Given the description of an element on the screen output the (x, y) to click on. 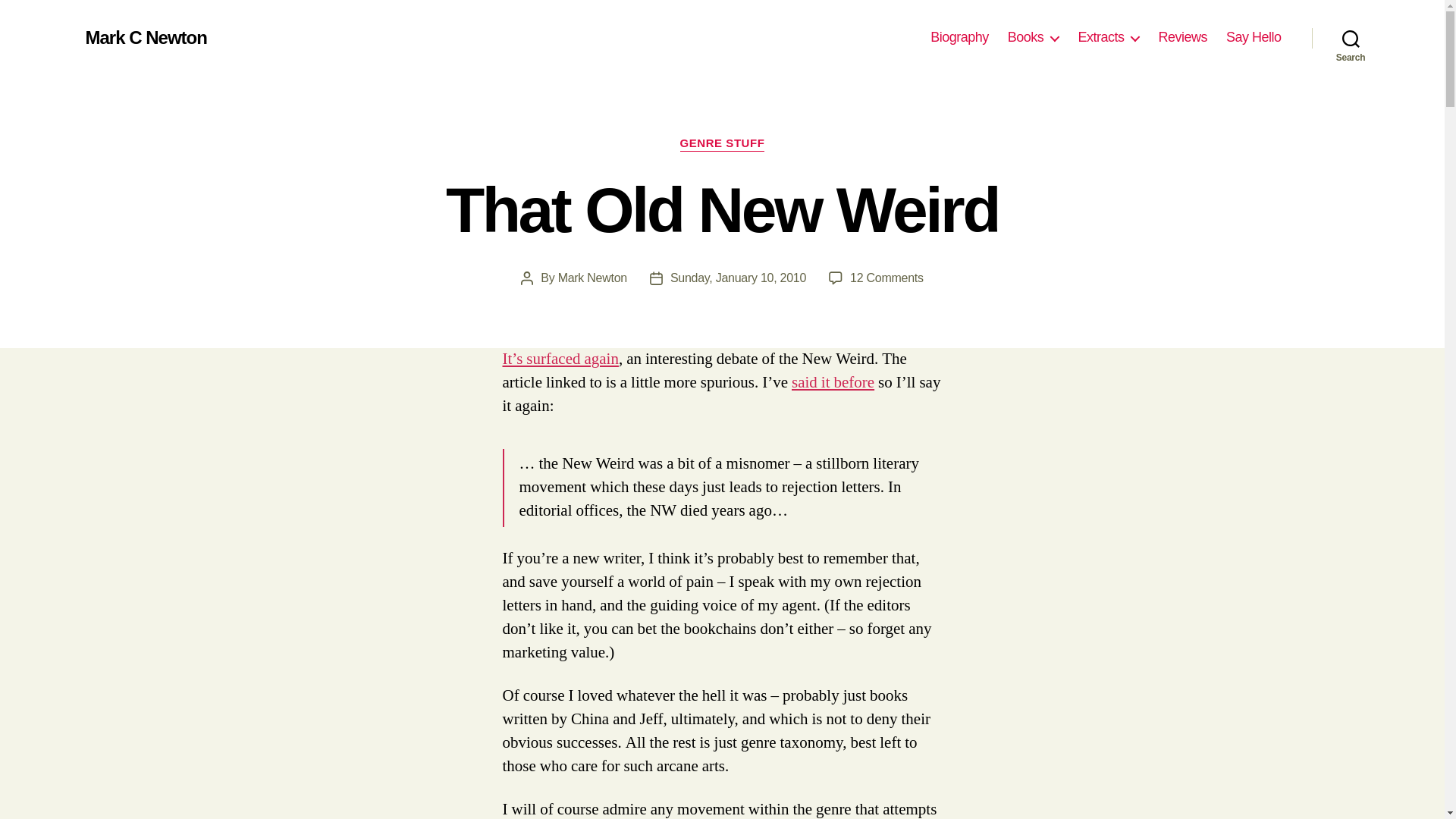
Sunday, January 10, 2010 (737, 277)
GENRE STUFF (722, 143)
Reviews (886, 277)
Search (1182, 37)
said it before (1350, 37)
Biography (833, 382)
Mark Newton (959, 37)
Mark C Newton (592, 277)
Extracts (145, 37)
